Given the description of an element on the screen output the (x, y) to click on. 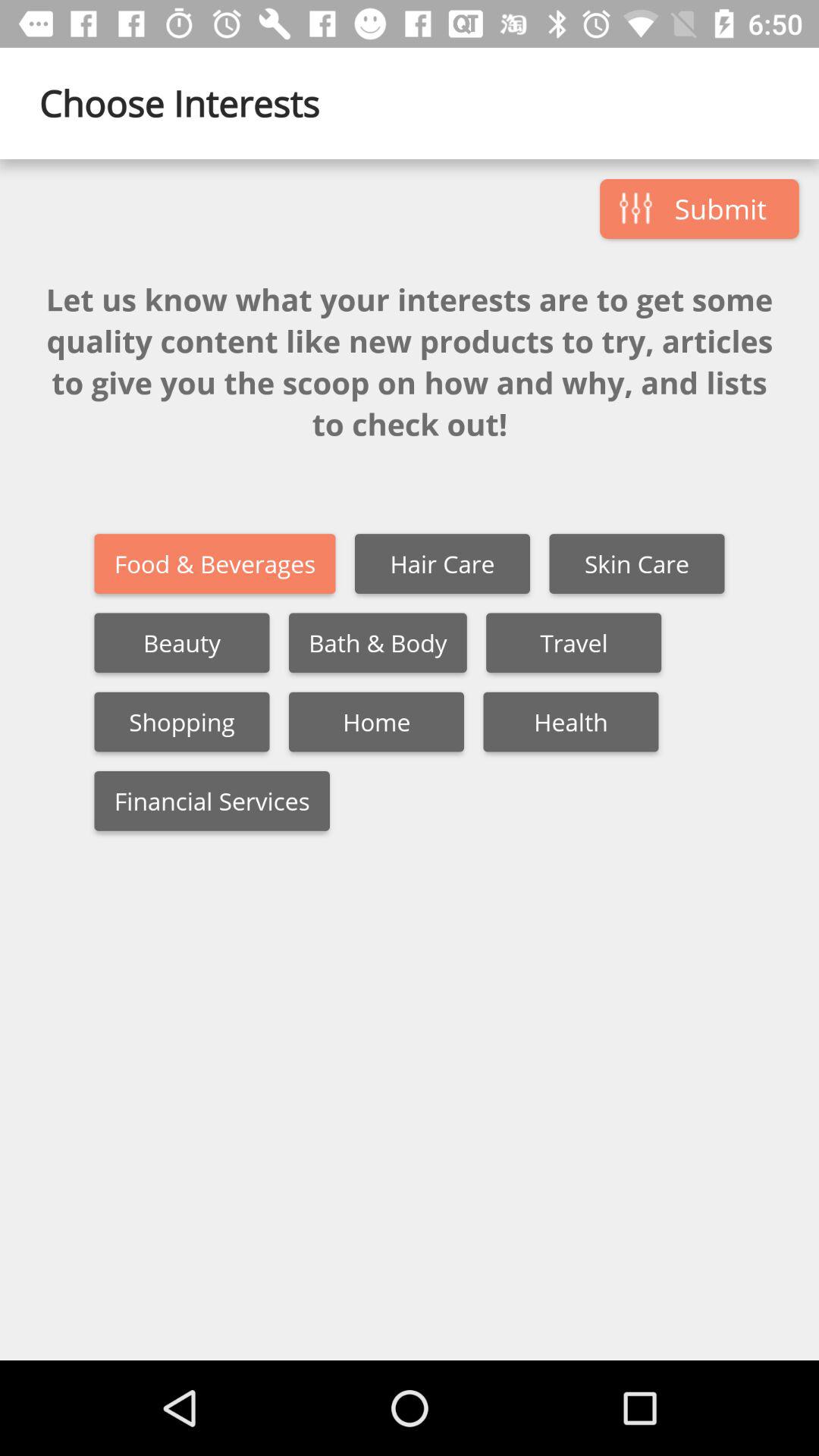
flip until financial services icon (211, 800)
